Given the description of an element on the screen output the (x, y) to click on. 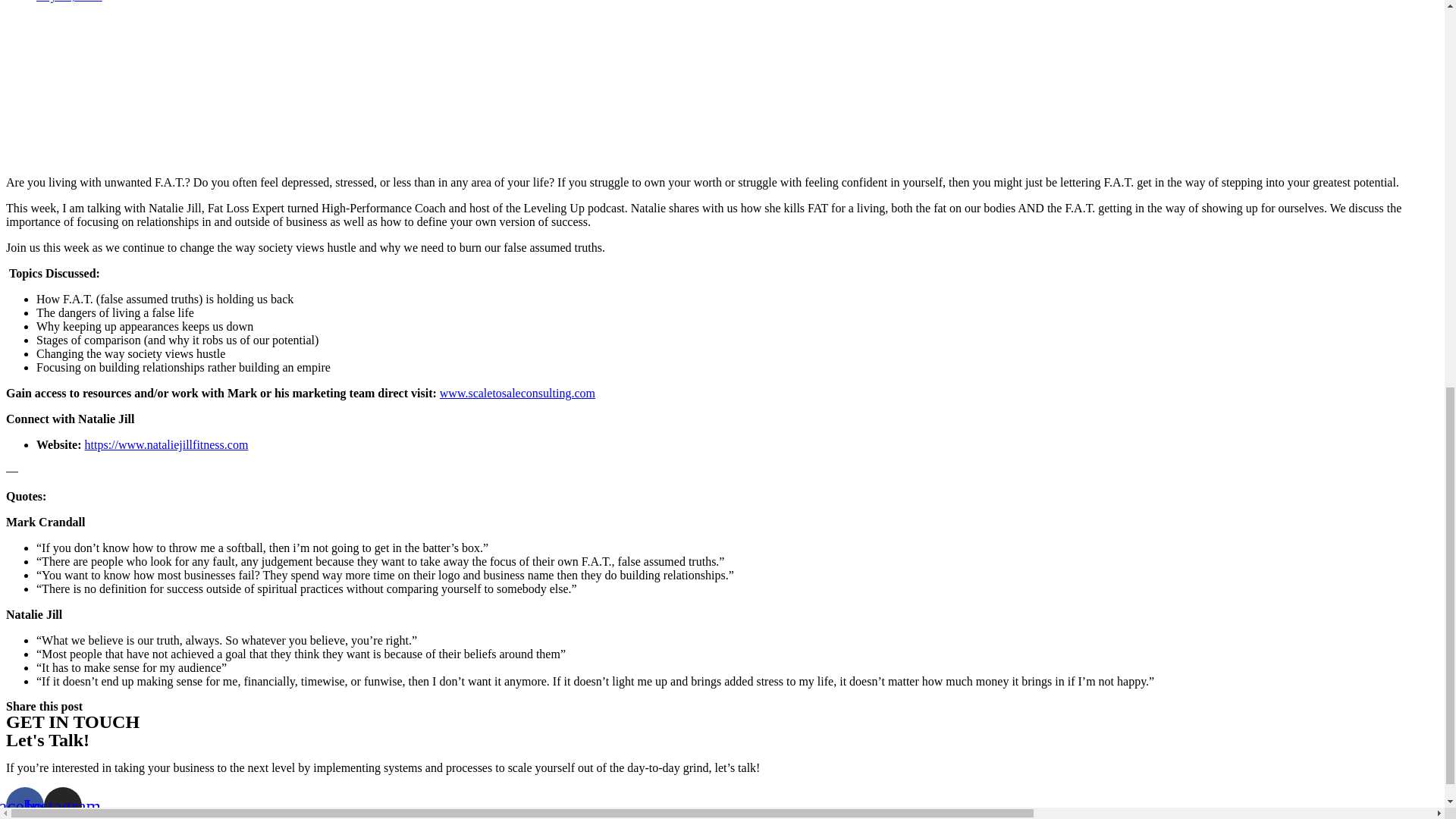
July 26, 2022 (68, 1)
www.scaletosaleconsulting.com (517, 392)
